Given the description of an element on the screen output the (x, y) to click on. 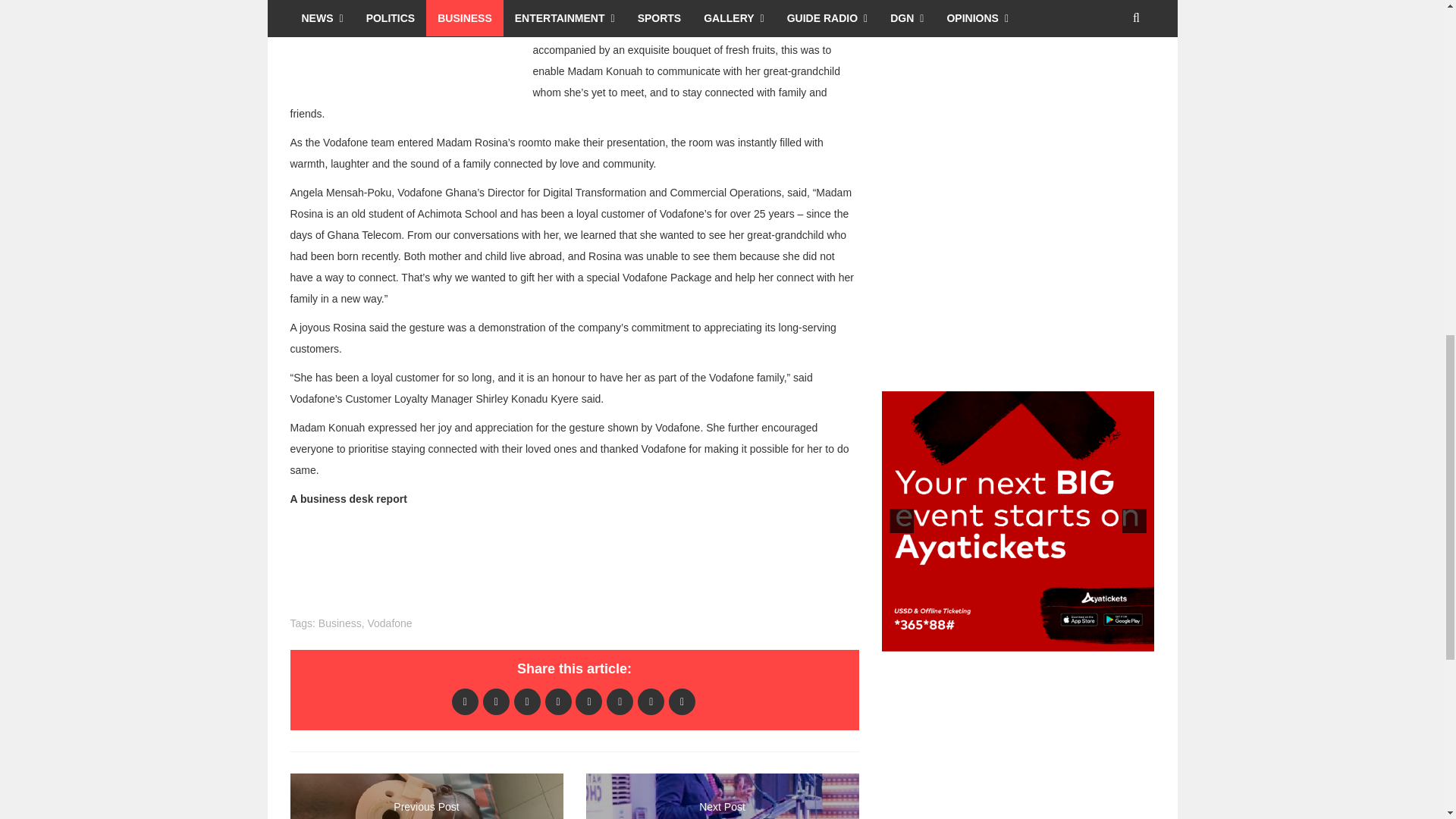
Advertisement (402, 43)
